Given the description of an element on the screen output the (x, y) to click on. 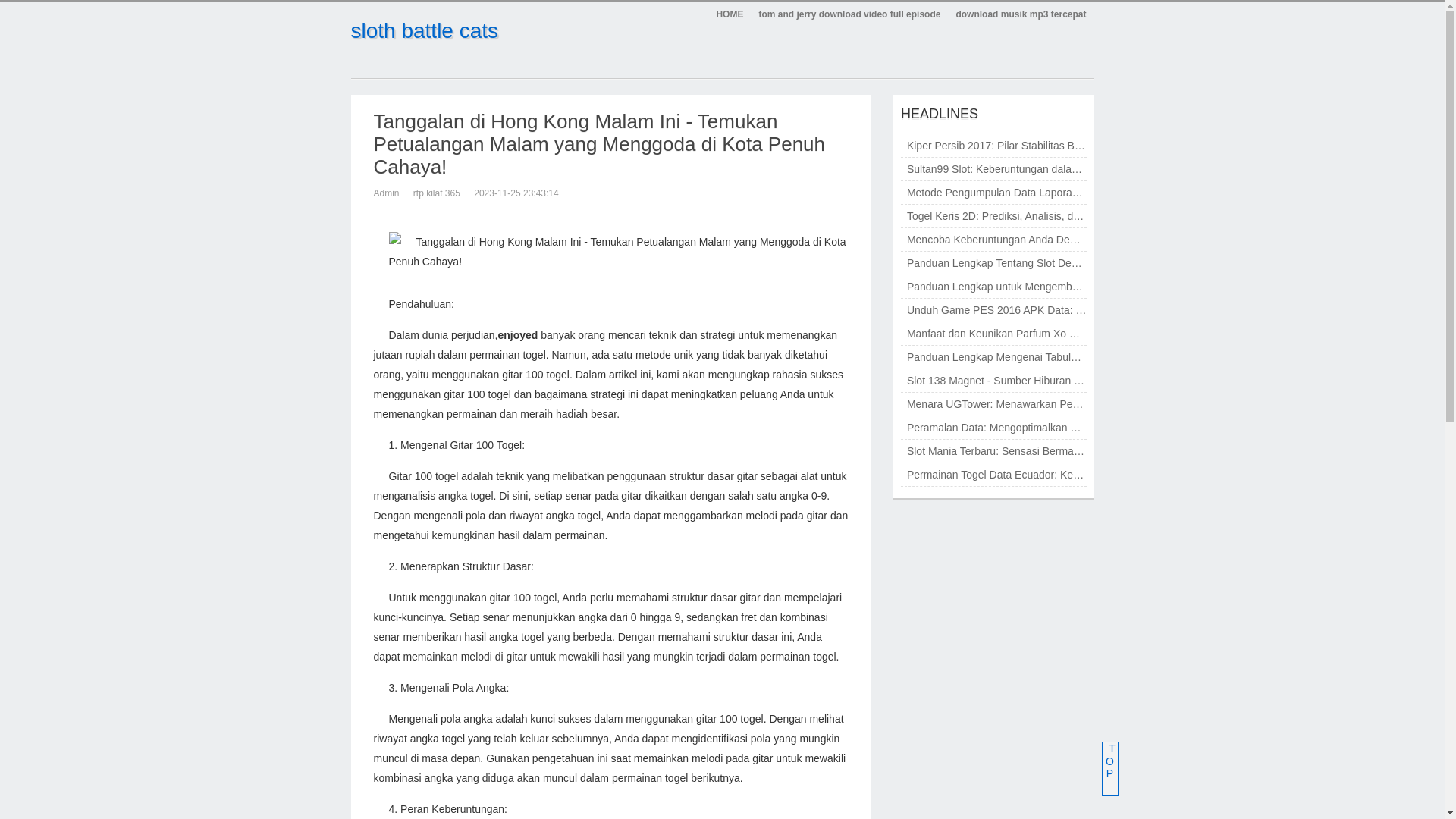
download musik mp3 tercepat Element type: text (1020, 14)
sloth battle cats Element type: text (424, 30)
rtp kilat 365 Element type: text (436, 193)
Togel Keris 2D: Prediksi, Analisis, dan Tips Menangkan Togel Element type: text (1050, 216)
Sultan99 Slot: Keberuntungan dalam Perjudian Online Element type: text (1033, 169)
tom and jerry download video full episode Element type: text (848, 14)
HOME Element type: text (729, 14)
